Given the description of an element on the screen output the (x, y) to click on. 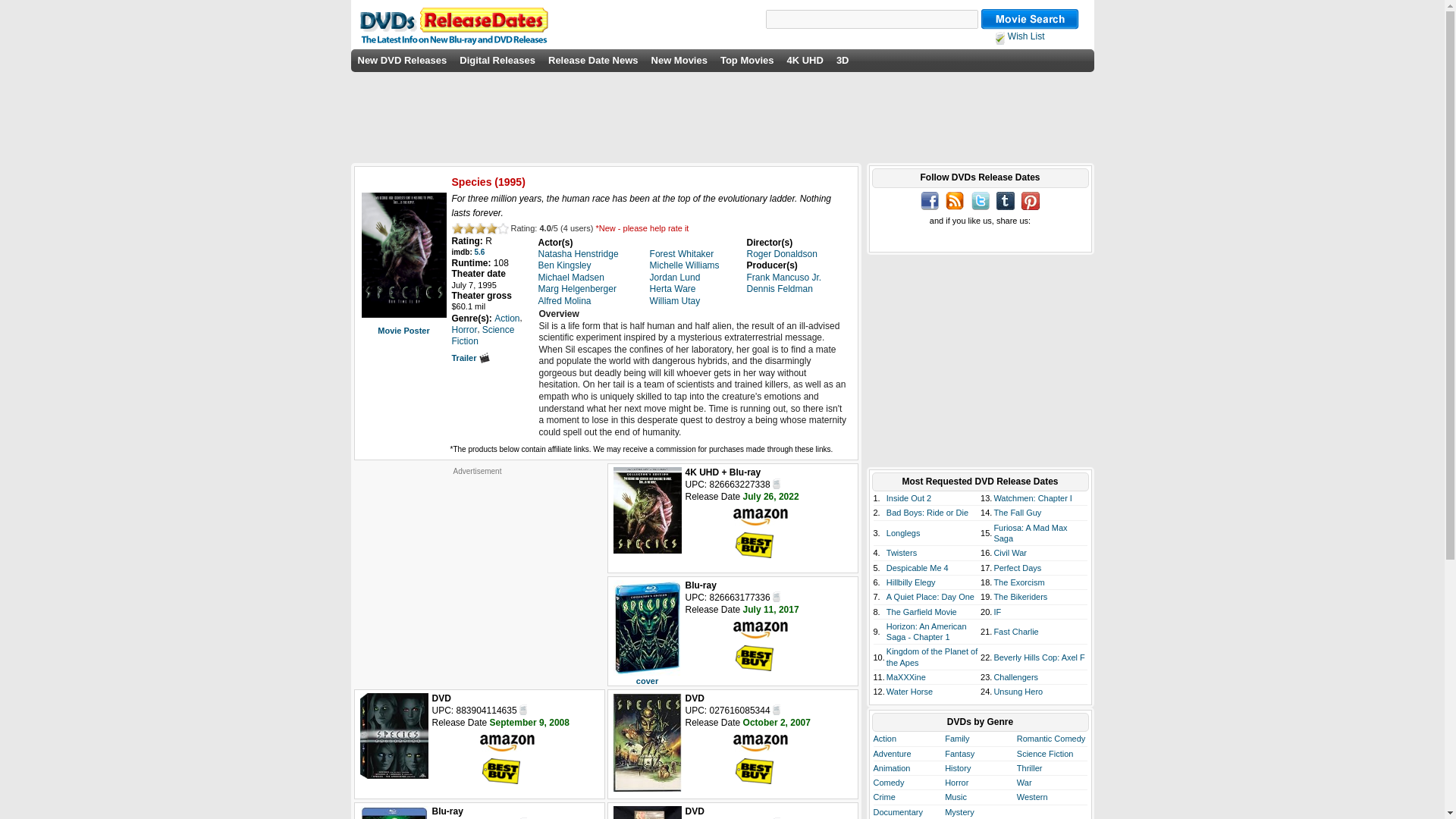
Marg Helgenberger (576, 288)
Add to wish list (523, 708)
Release Date News (593, 60)
Ben Kingsley (564, 265)
2 out of 5. (468, 228)
Roger Donaldson (780, 253)
3D (841, 60)
Michael Madsen (571, 276)
Forest Whitaker (681, 253)
5 (502, 228)
Natasha Henstridge (578, 253)
William Utay (674, 300)
4 (490, 228)
3 out of 5. (480, 228)
